Given the description of an element on the screen output the (x, y) to click on. 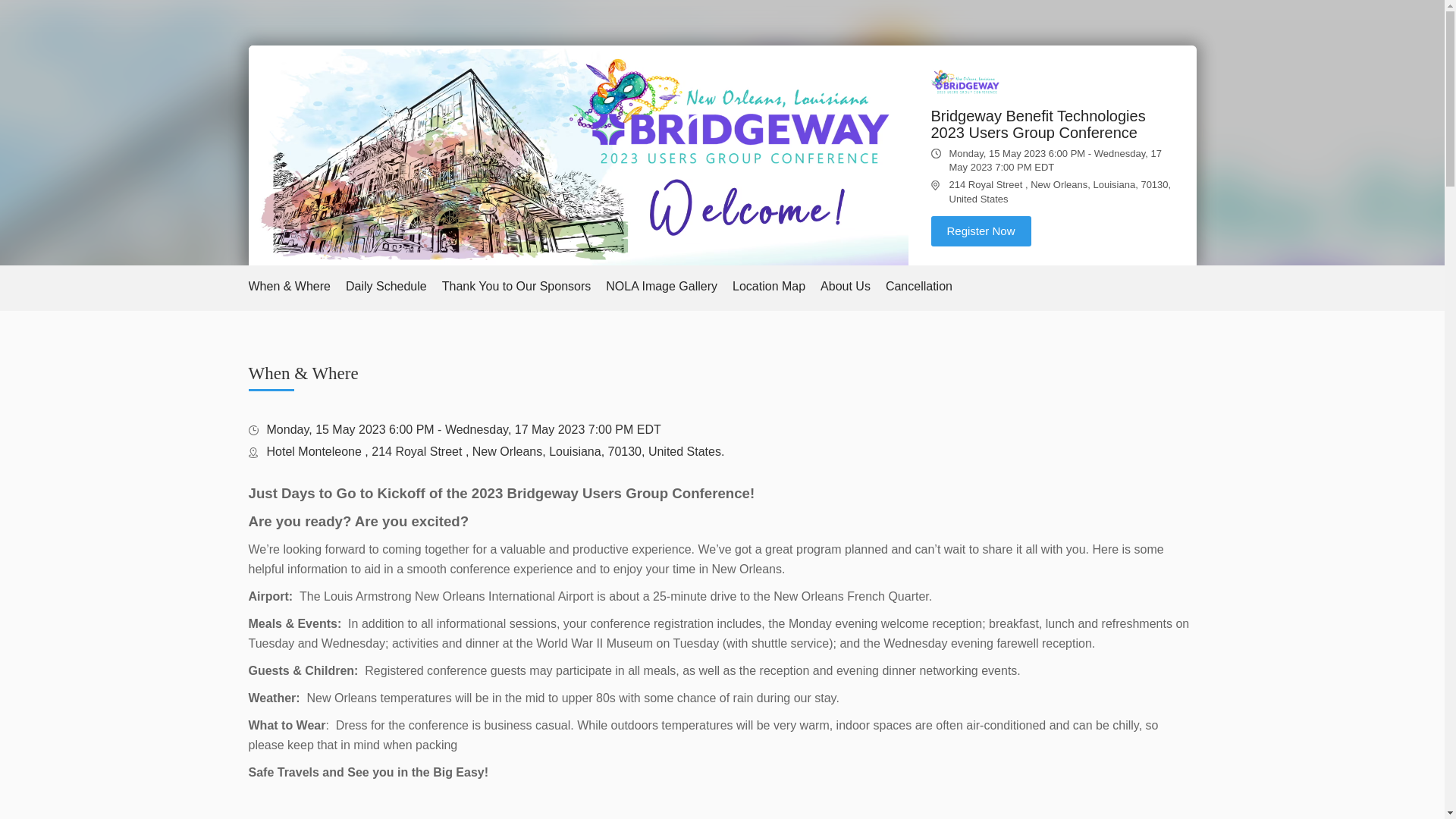
NOLA Image Gallery (661, 287)
Cancellation (918, 287)
Daily Schedule (386, 287)
Thank You to Our Sponsors (516, 287)
NOLA Image Gallery (661, 287)
Register Now (980, 230)
Location Map (768, 287)
About Us (845, 287)
Thank You to Our Sponsors (516, 287)
About Us (845, 287)
Location Map (768, 287)
Cancellation (918, 287)
Register Now (980, 230)
Daily Schedule (386, 287)
